Given the description of an element on the screen output the (x, y) to click on. 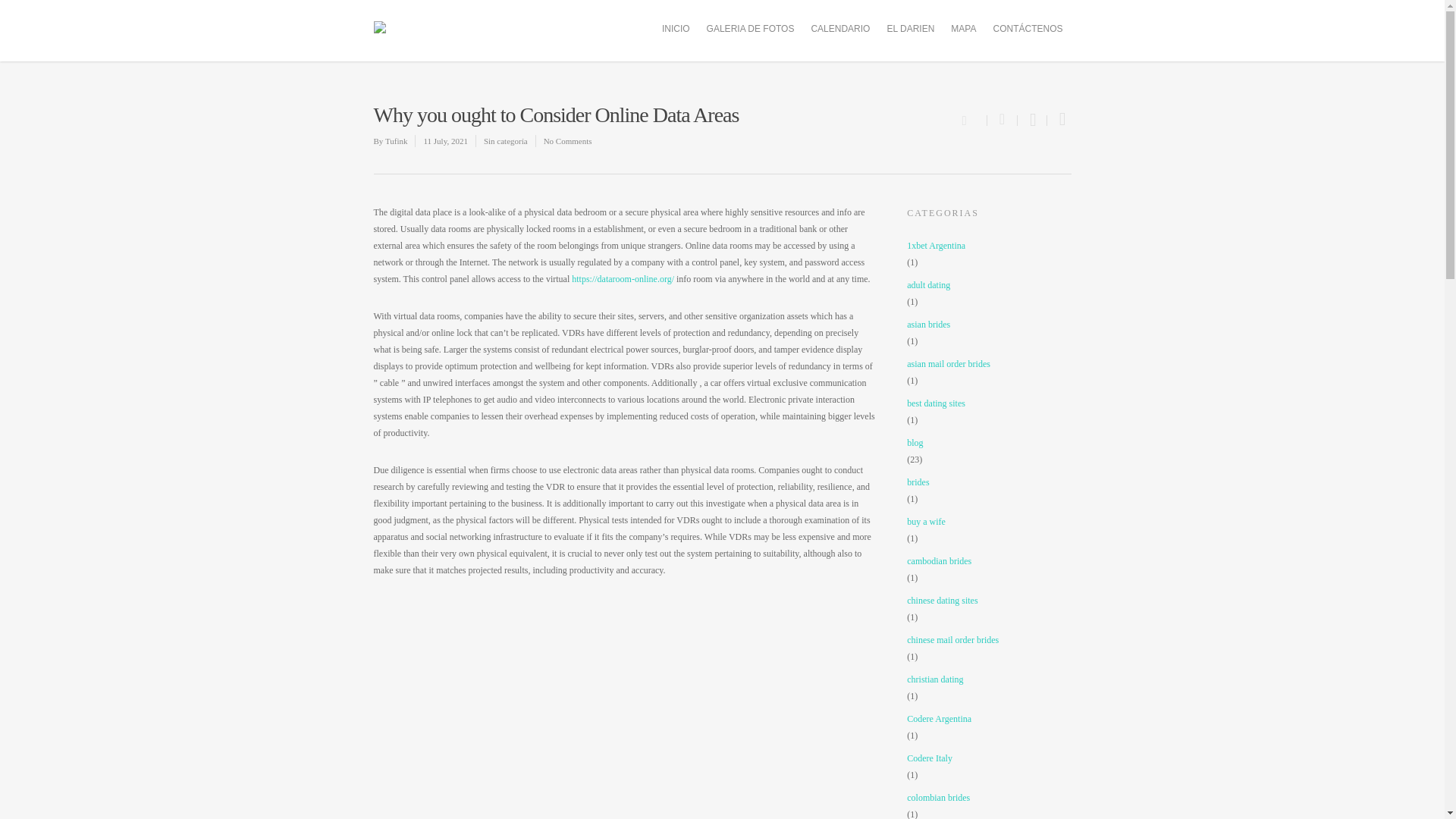
GALERIA DE FOTOS (750, 28)
INICIO (675, 28)
cambodian brides (988, 560)
Pin this (1058, 120)
asian brides (988, 324)
Codere Italy (988, 758)
EL DARIEN (910, 28)
Tufink (396, 140)
Posts by Tufink (396, 140)
Codere Argentina (988, 718)
Love this (972, 118)
1xbet Argentina (988, 245)
CALENDARIO (840, 28)
blog (988, 442)
MAPA (963, 28)
